Given the description of an element on the screen output the (x, y) to click on. 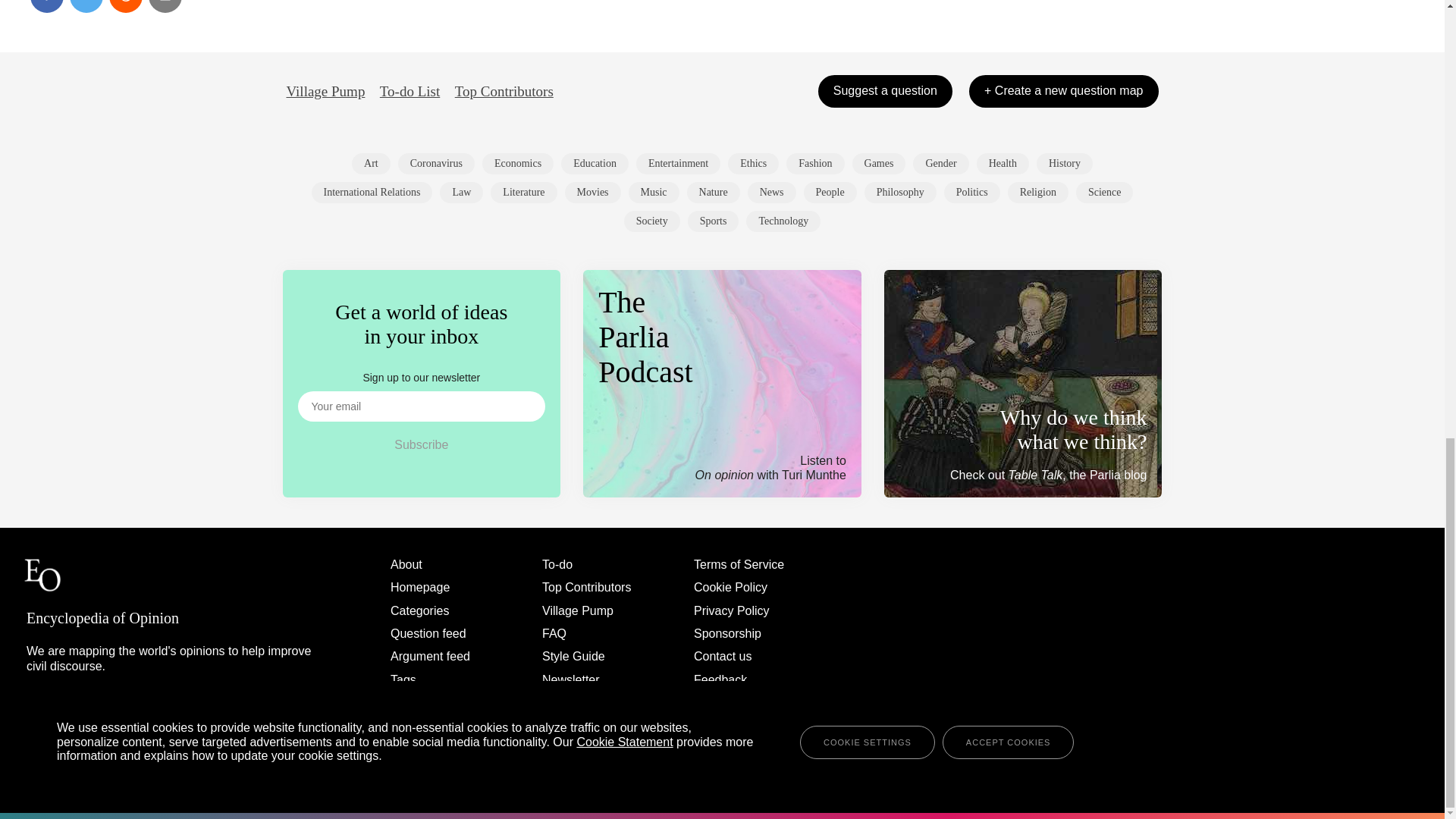
Health (1002, 163)
Category item (653, 192)
Literature (523, 192)
Category item (1064, 163)
Category item (753, 163)
Education (594, 163)
To-do List (409, 91)
Gender (940, 163)
Law (461, 192)
Category item (371, 192)
